Given the description of an element on the screen output the (x, y) to click on. 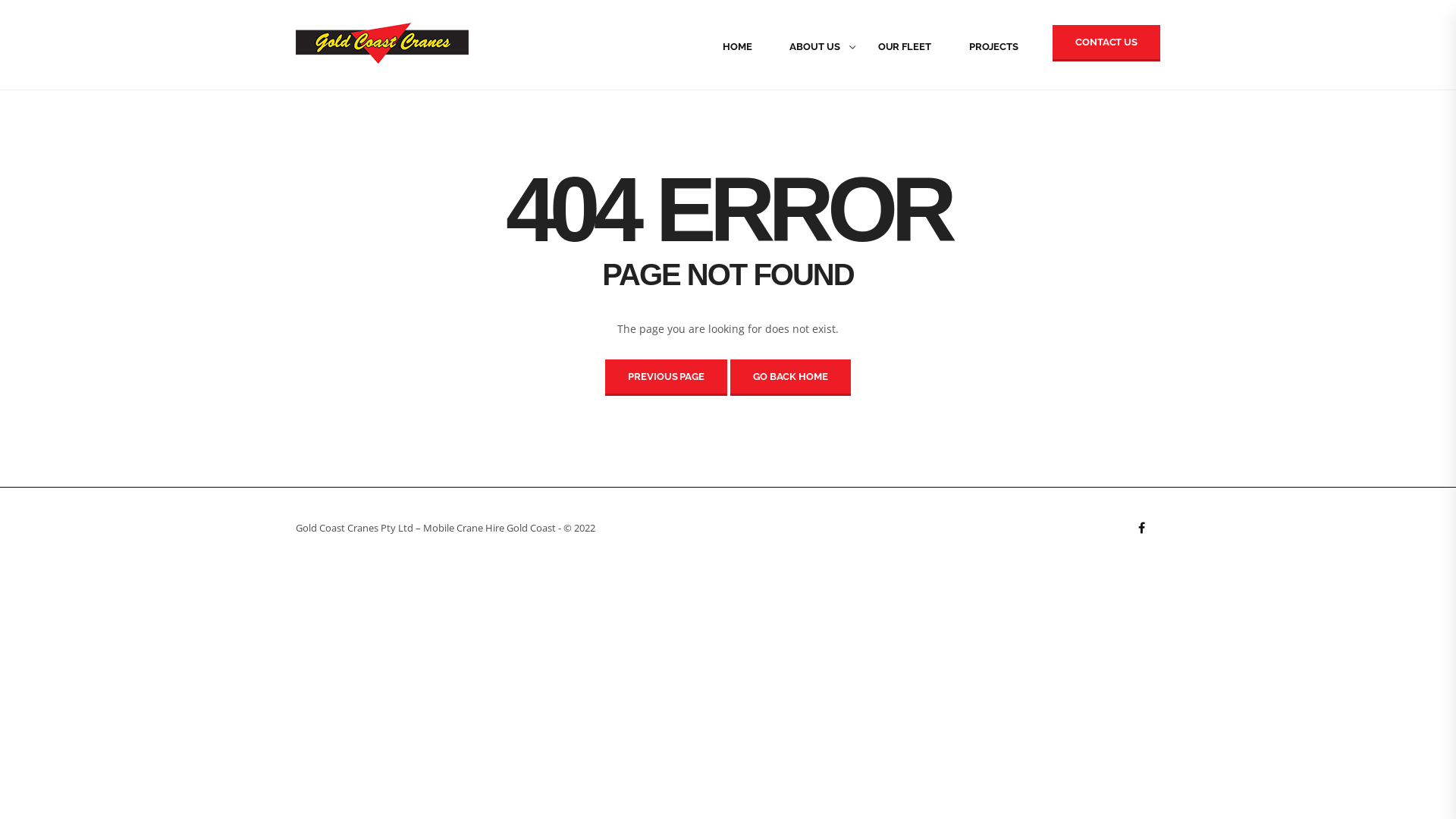
ABOUT US Element type: text (814, 46)
PREVIOUS PAGE Element type: text (666, 377)
GO BACK HOME Element type: text (790, 377)
PROJECTS Element type: text (993, 46)
OUR FLEET Element type: text (904, 46)
HOME Element type: text (737, 46)
